Given the description of an element on the screen output the (x, y) to click on. 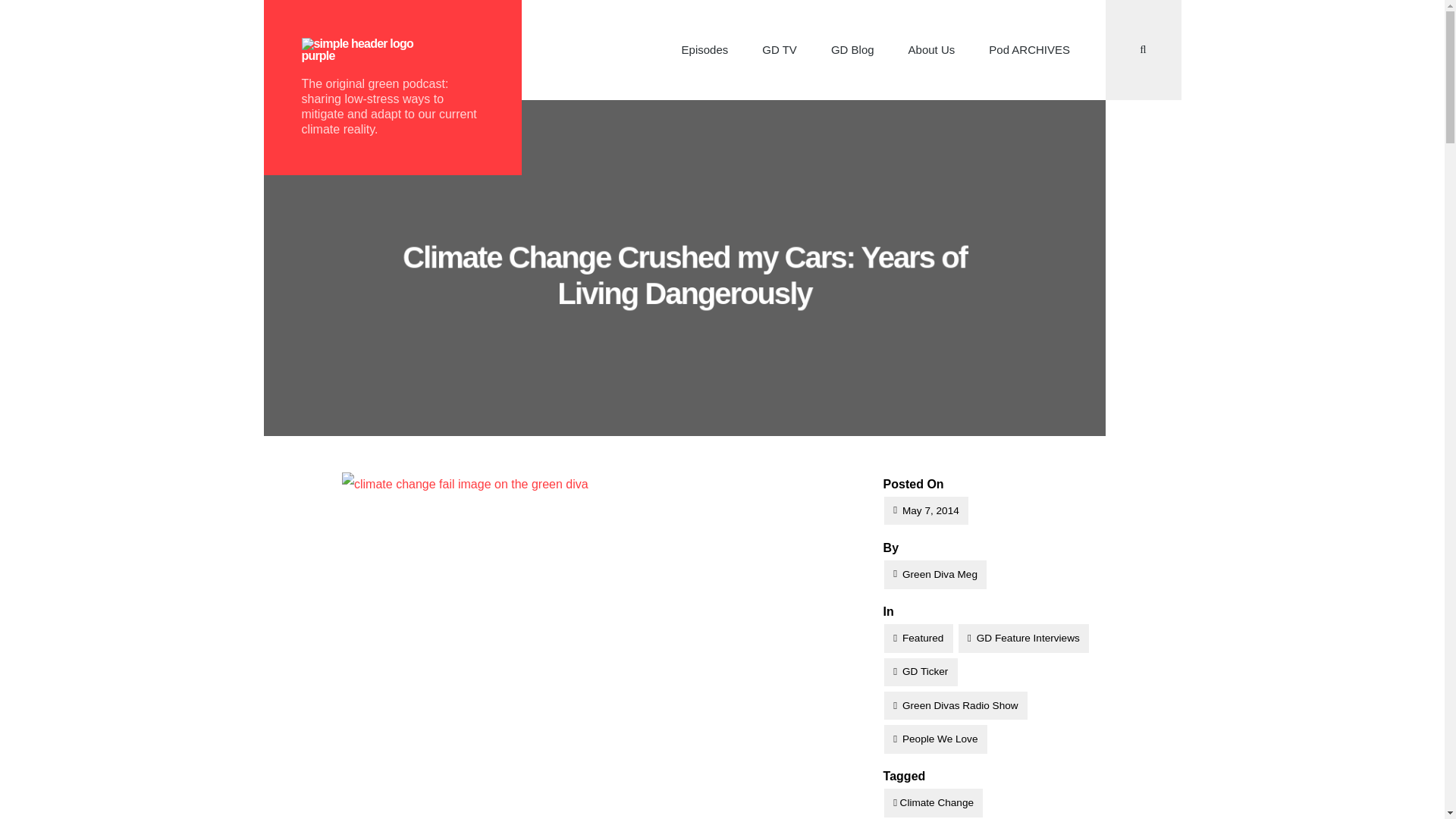
GD Blog (852, 50)
About Us (931, 50)
Episodes (704, 50)
Pod ARCHIVES (1029, 50)
GD TV (779, 50)
